Given the description of an element on the screen output the (x, y) to click on. 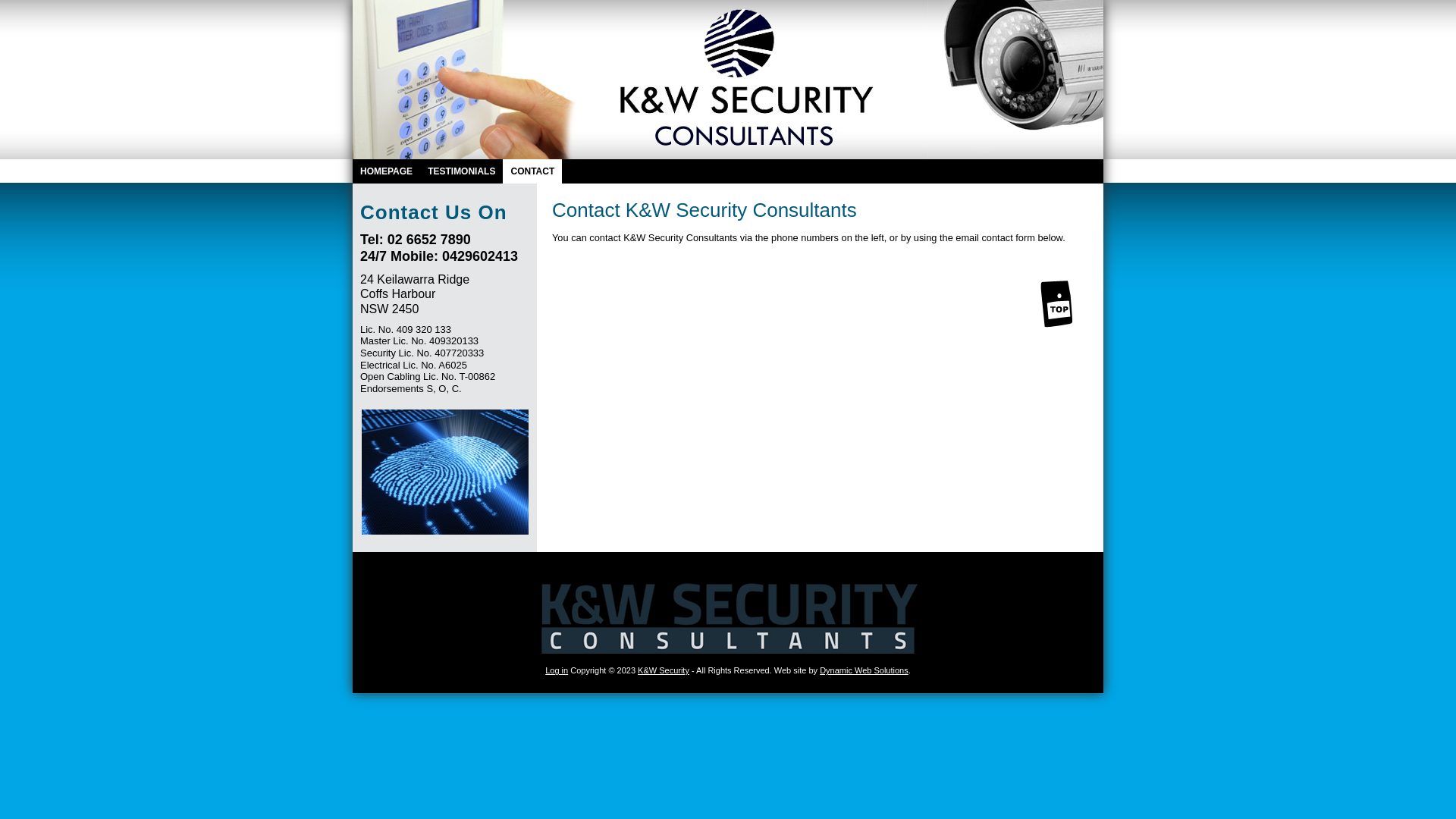
Dynamic Web Solutions Element type: text (863, 669)
TESTIMONIALS Element type: text (461, 171)
CONTACT Element type: text (531, 171)
HOMEPAGE Element type: text (386, 171)
  Element type: text (727, 79)
K&W Security Element type: hover (727, 79)
Log in Element type: text (556, 669)
K&W Security Element type: text (663, 669)
